Given the description of an element on the screen output the (x, y) to click on. 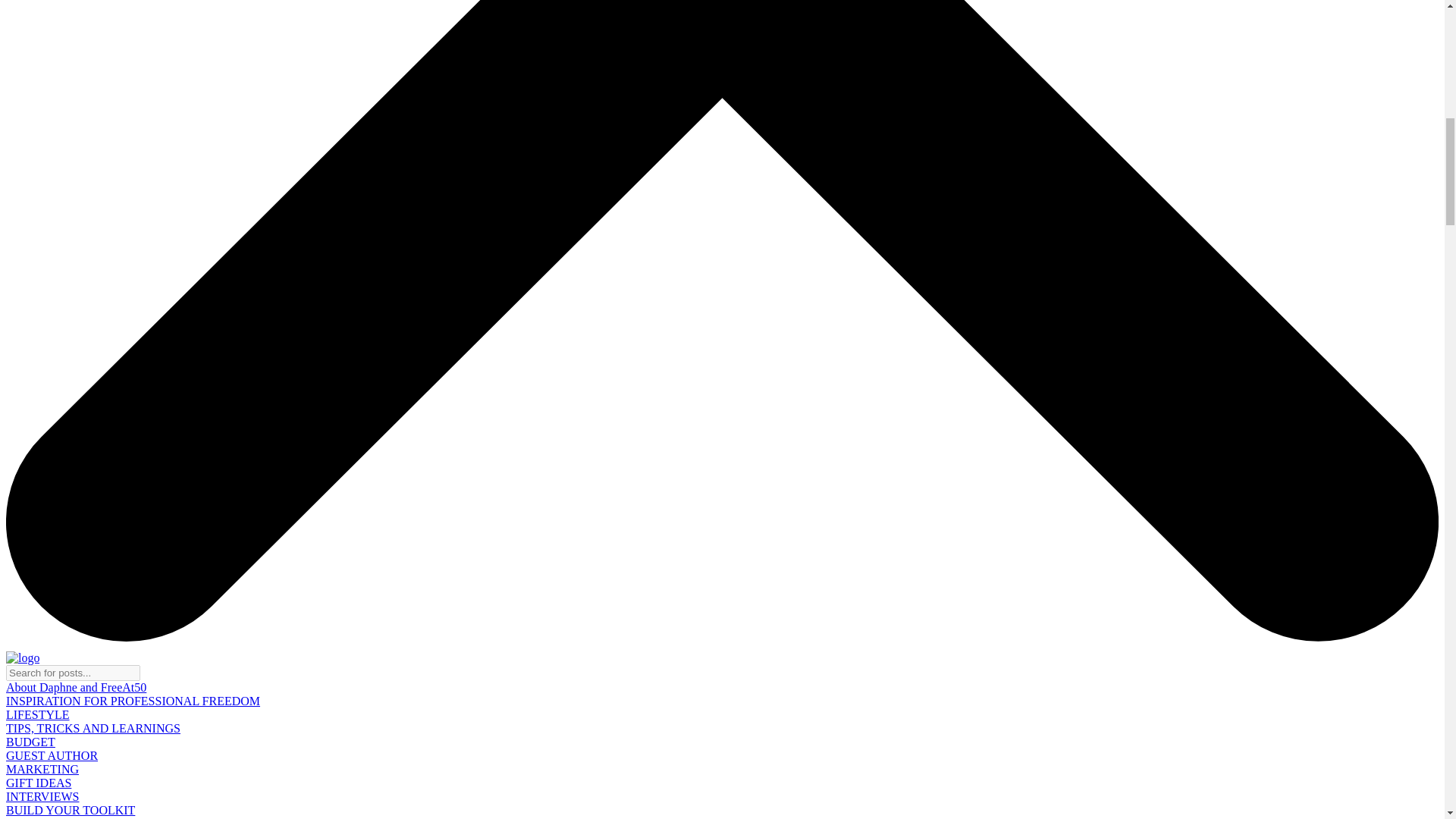
INTERVIEWS (41, 796)
BUILD YOUR TOOLKIT (70, 809)
GIFT IDEAS (38, 782)
Home (19, 818)
LIFESTYLE (333, 818)
INSPIRATION FOR PROFESSIONAL FREEDOM (132, 700)
About Daphne and FreeAt50 (76, 686)
MARKETING (41, 768)
LIFESTYLE (37, 714)
